Given the description of an element on the screen output the (x, y) to click on. 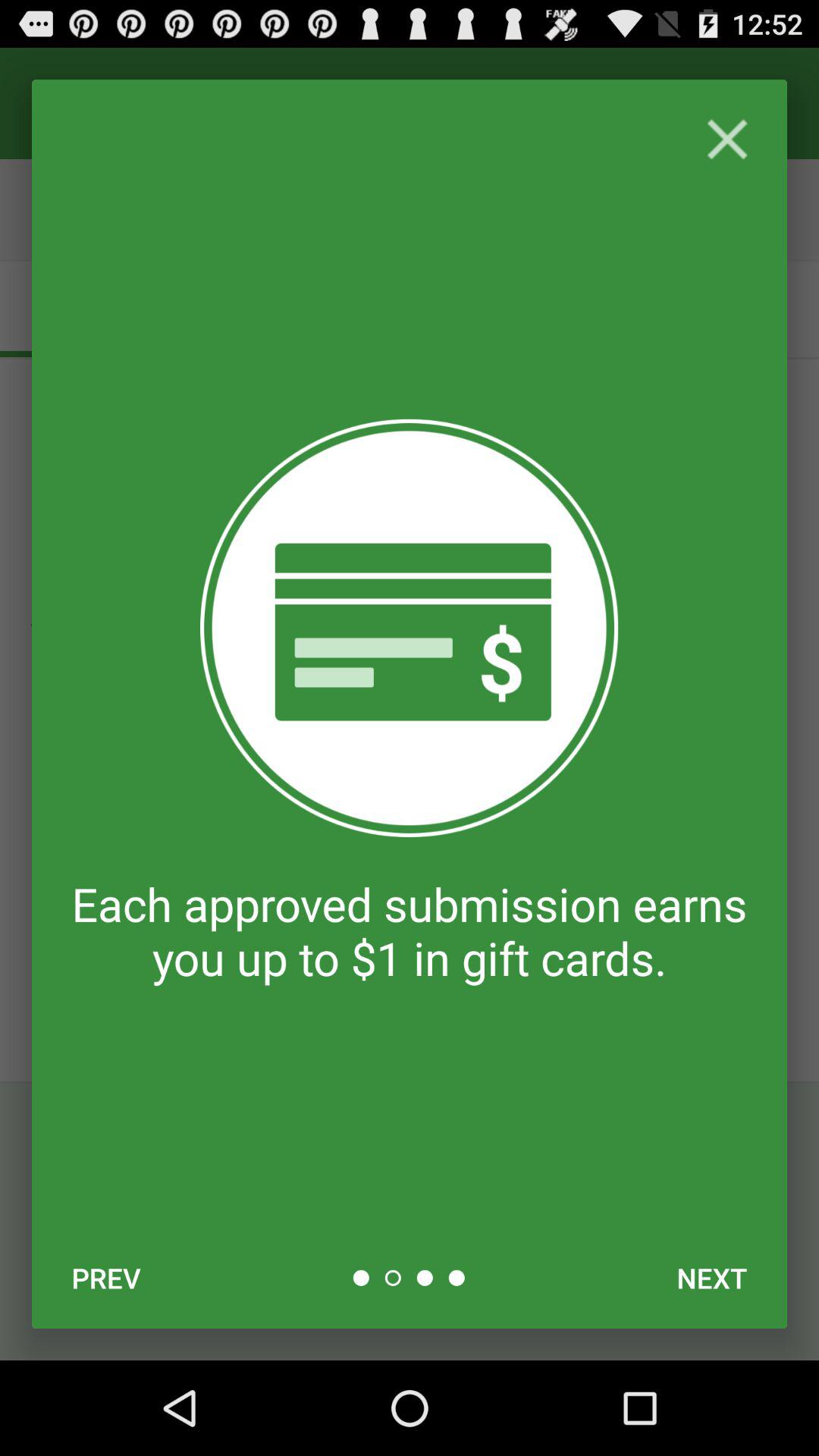
press the next icon (711, 1277)
